Given the description of an element on the screen output the (x, y) to click on. 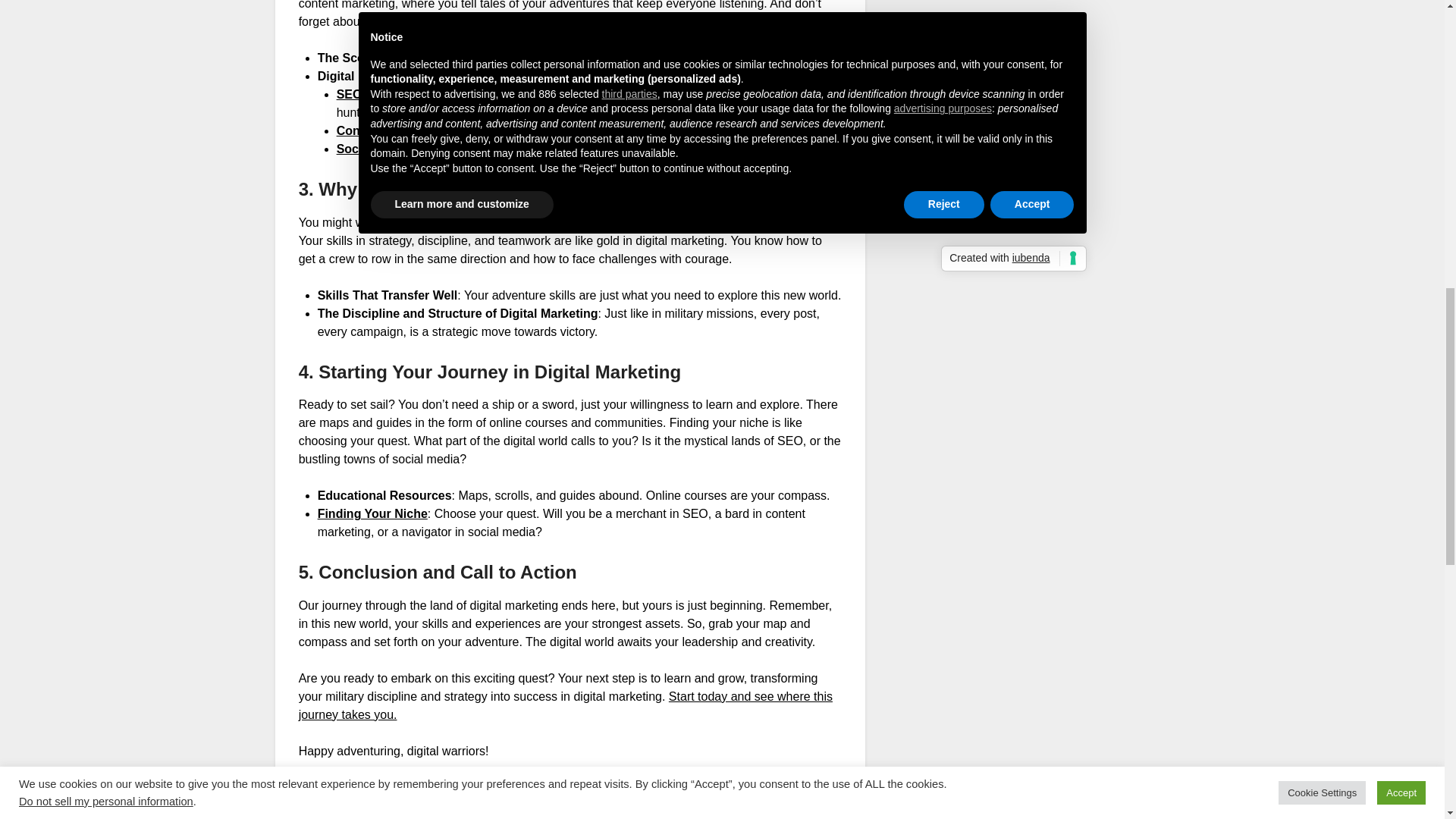
Finding Your Niche (372, 513)
More (505, 813)
WhatsApp (375, 813)
Start today and see where this journey takes you. (565, 705)
Telegram (445, 813)
Click to share on WhatsApp (375, 813)
Social Media Marketing (403, 148)
Tweet (314, 813)
Terms and Conditions  (970, 141)
Content Marketing (389, 130)
